Given the description of an element on the screen output the (x, y) to click on. 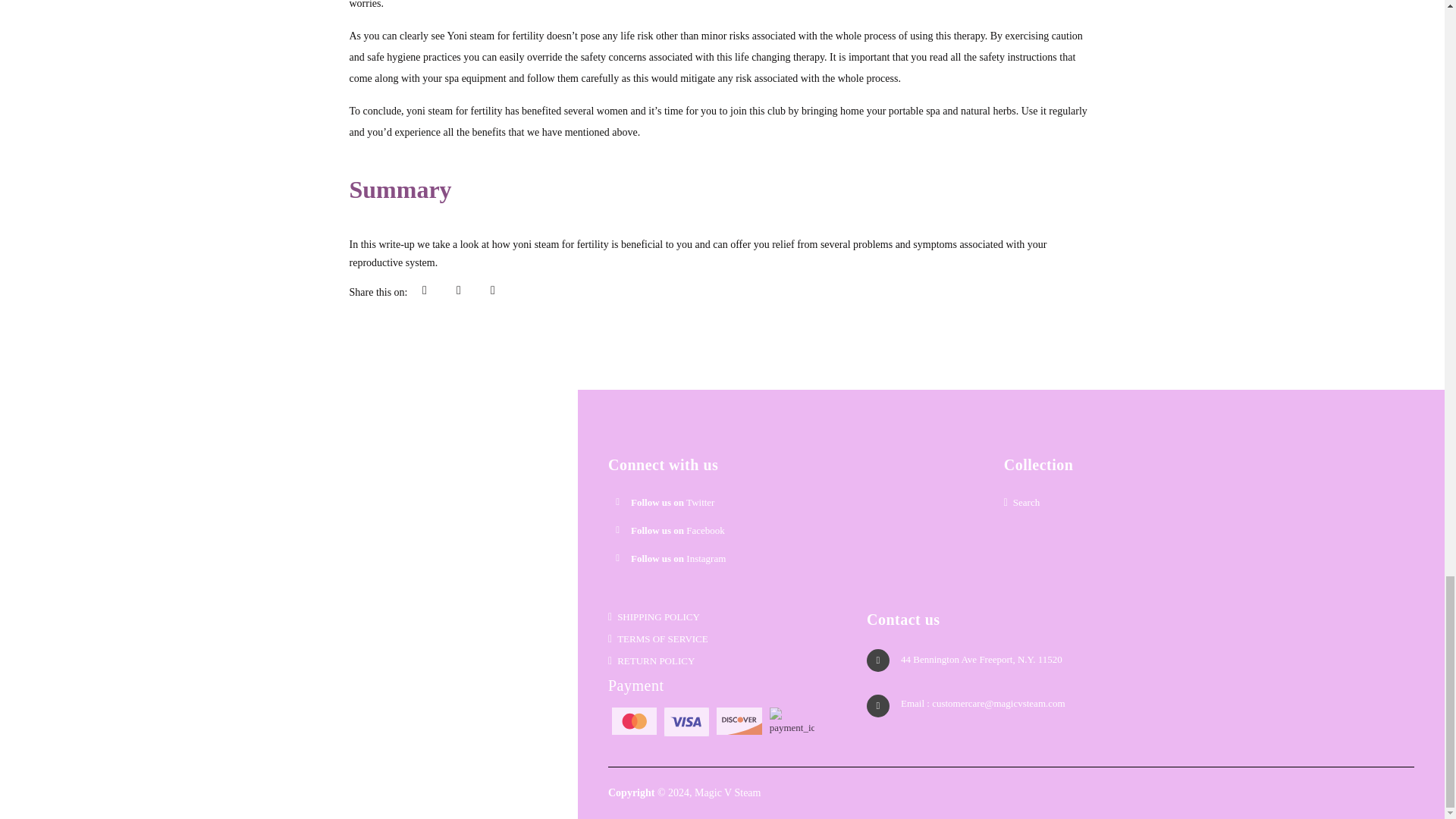
Follow us on Twitter (672, 501)
SHIPPING POLICY (721, 619)
Twitter (672, 501)
TERMS OF SERVICE (721, 641)
Search (1194, 505)
Instagram (677, 558)
RETURN POLICY (721, 663)
Facebook (677, 530)
Follow us on Facebook (677, 530)
Follow us on Instagram (677, 558)
